Given the description of an element on the screen output the (x, y) to click on. 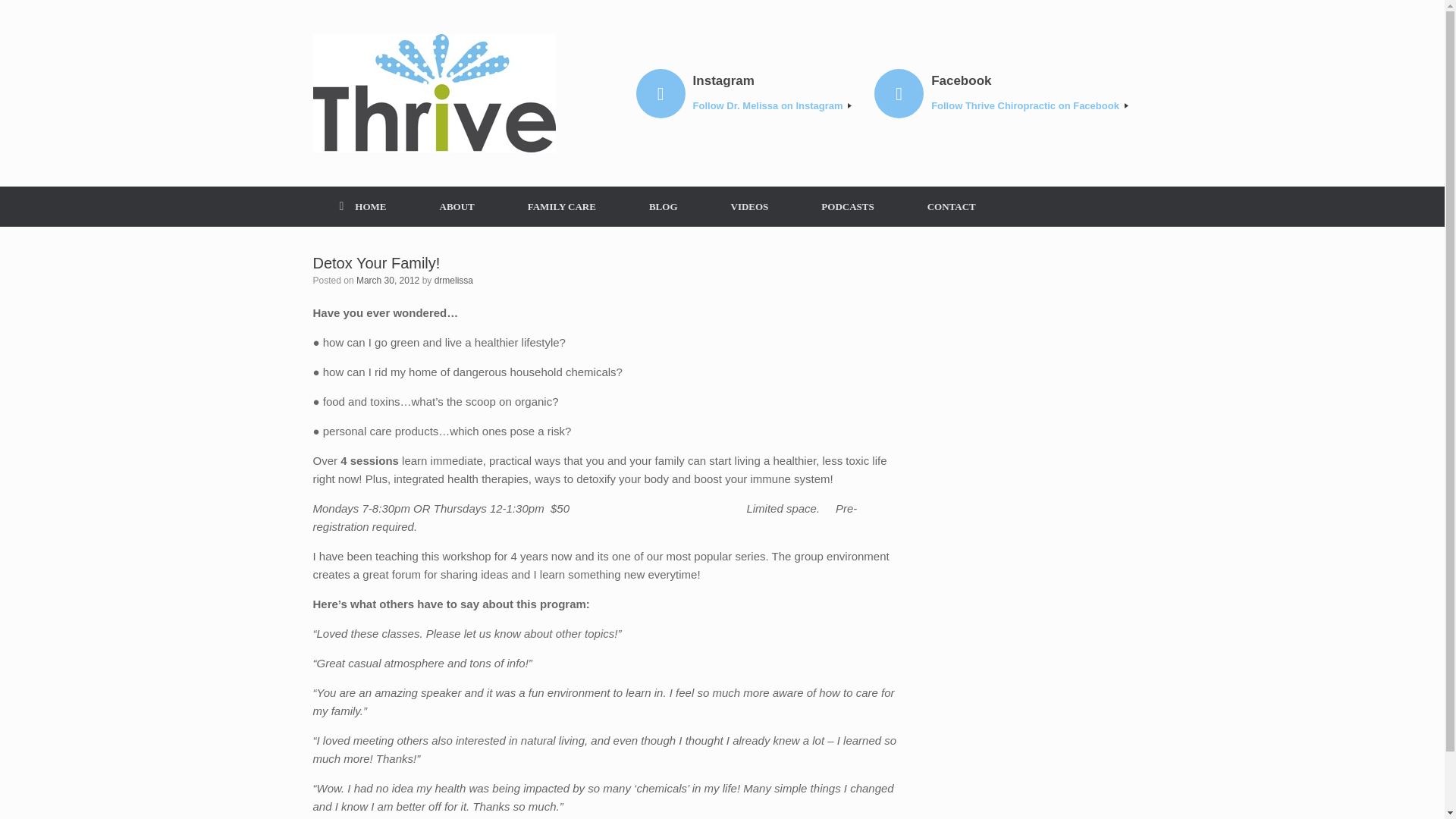
March 30, 2012 (387, 280)
View all posts by drmelissa (453, 280)
ABOUT (456, 206)
Follow Dr. Melissa on Instagram (772, 105)
VIDEOS (748, 206)
PODCASTS (846, 206)
5:30 pm (387, 280)
BLOG (663, 206)
FAMILY CARE (561, 206)
HOME (362, 206)
